Given the description of an element on the screen output the (x, y) to click on. 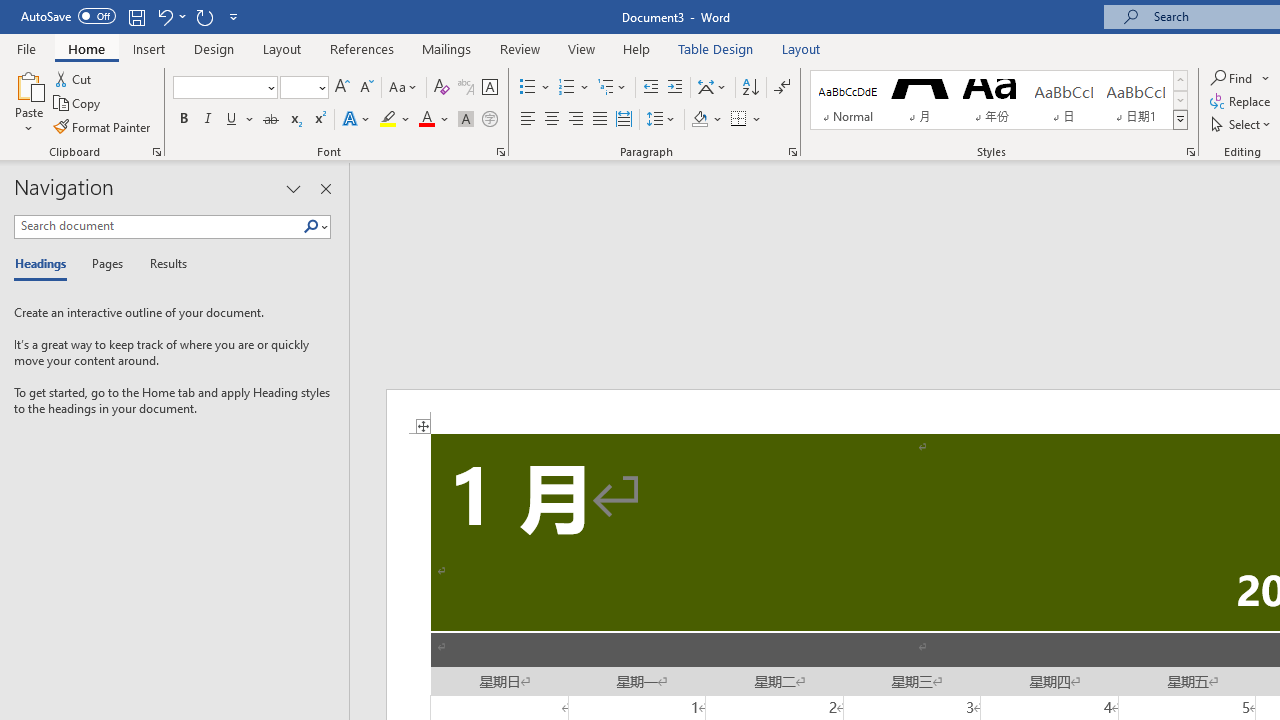
Close pane (325, 188)
Clear Formatting (442, 87)
Help (637, 48)
Search (311, 227)
Undo Insert Row Below (164, 15)
References (362, 48)
Increase Indent (675, 87)
Enclose Characters... (489, 119)
Mailings (447, 48)
Asian Layout (712, 87)
Review (520, 48)
Pages (105, 264)
AutoSave (68, 16)
Font (224, 87)
Sort... (750, 87)
